Given the description of an element on the screen output the (x, y) to click on. 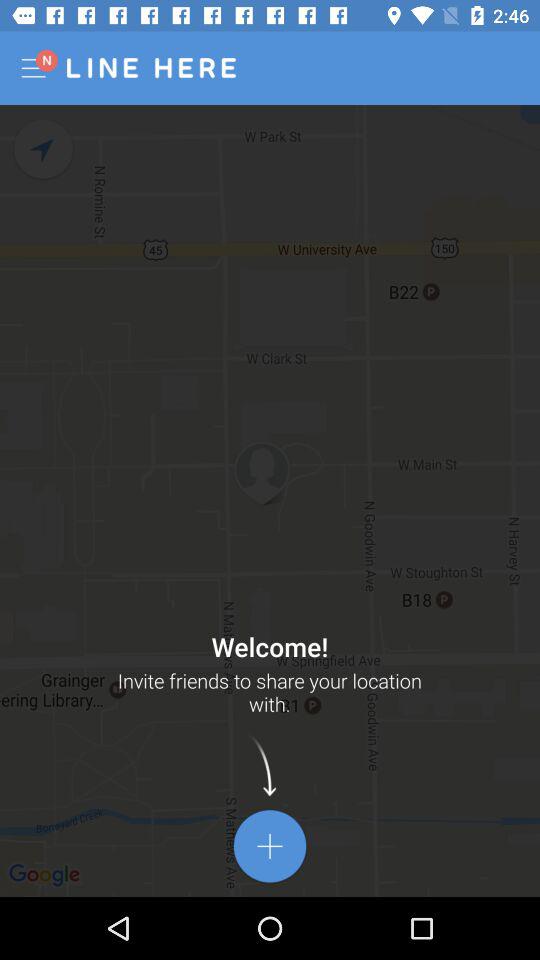
press blue buttom (269, 846)
